Given the description of an element on the screen output the (x, y) to click on. 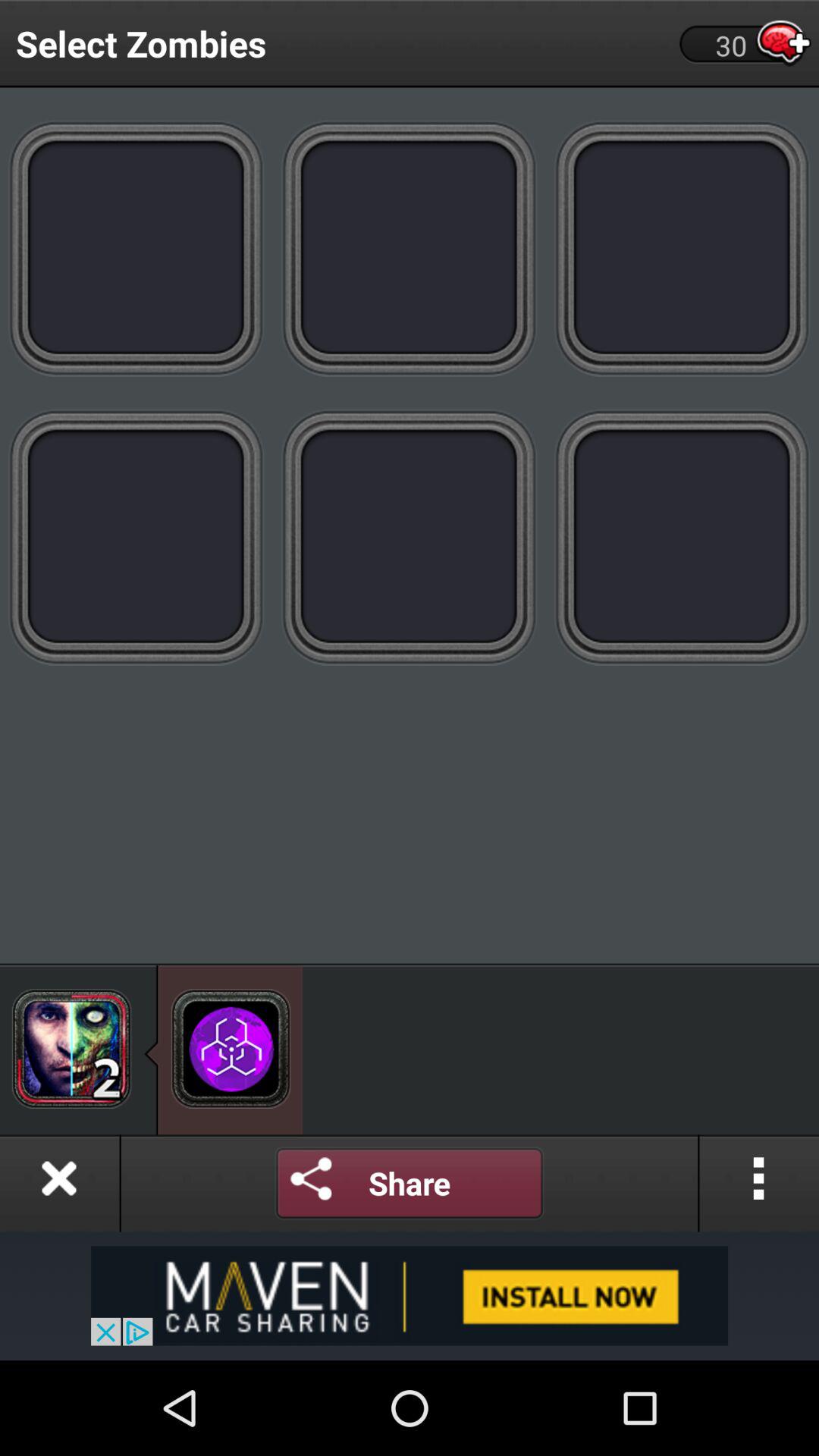
select zombie (409, 247)
